Given the description of an element on the screen output the (x, y) to click on. 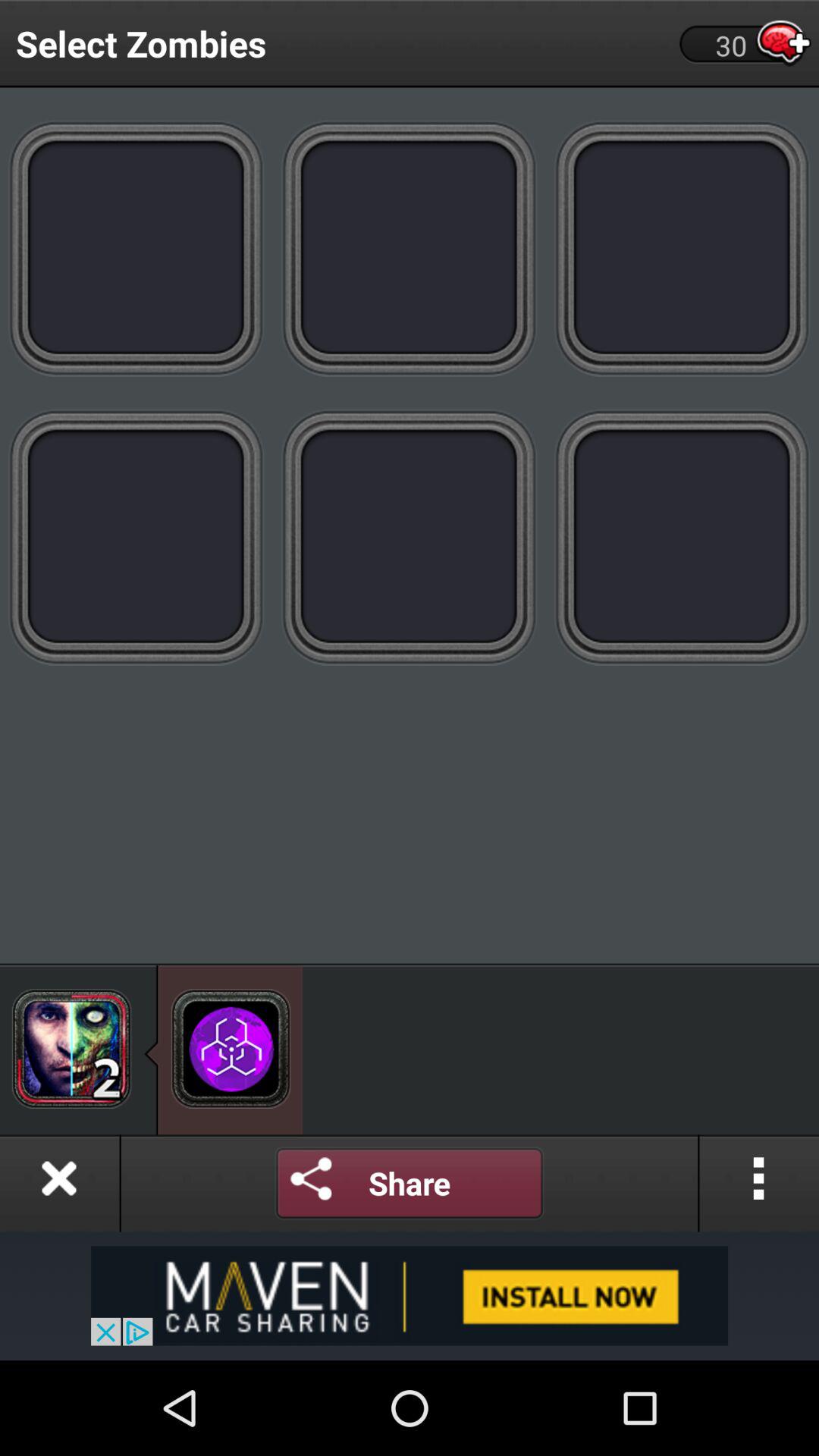
select zombie (409, 247)
